Given the description of an element on the screen output the (x, y) to click on. 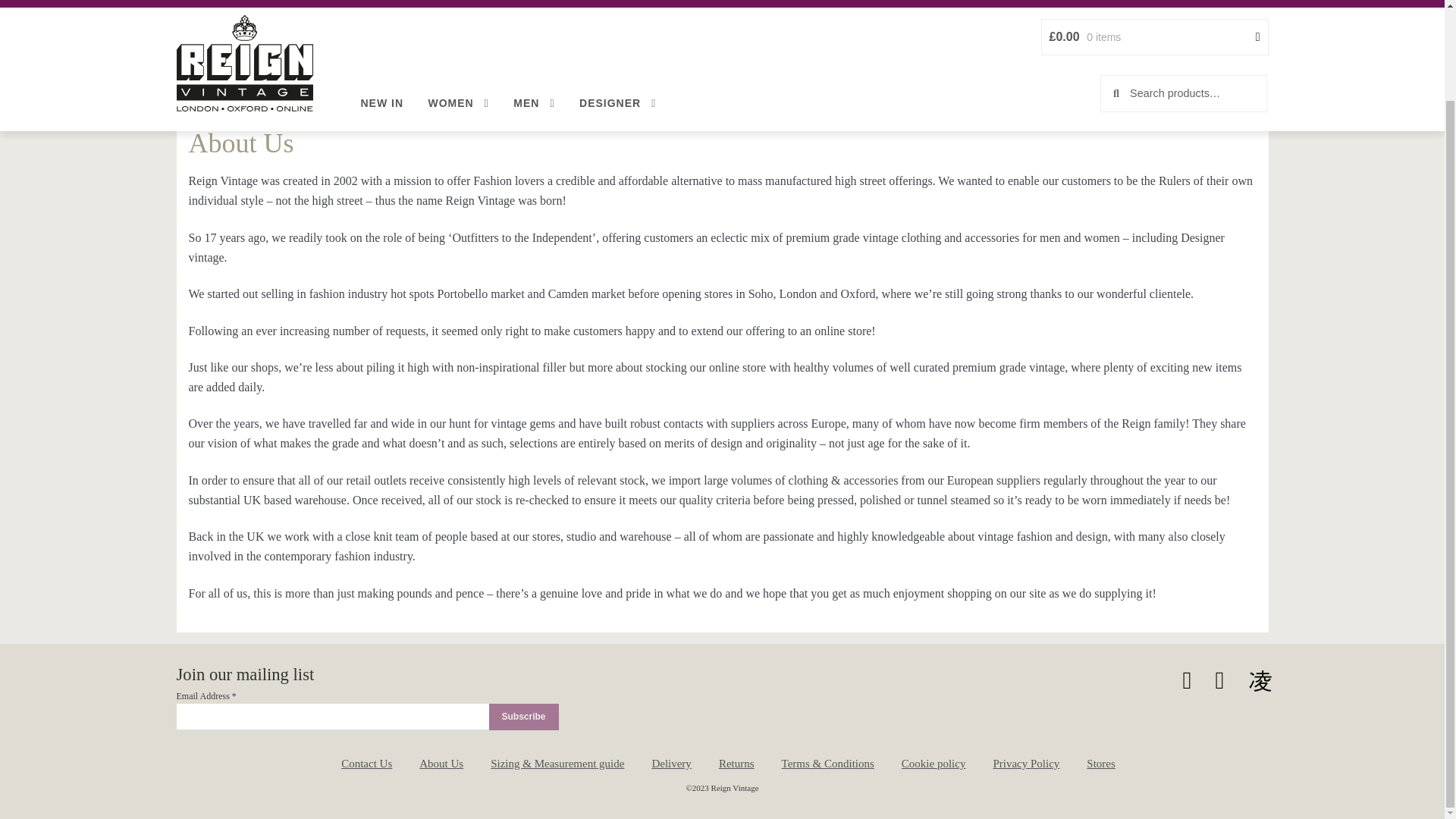
Subscribe (522, 716)
WOMEN (458, 9)
NEW IN (382, 9)
Reign Vintage (244, 3)
MEN (533, 9)
